Given the description of an element on the screen output the (x, y) to click on. 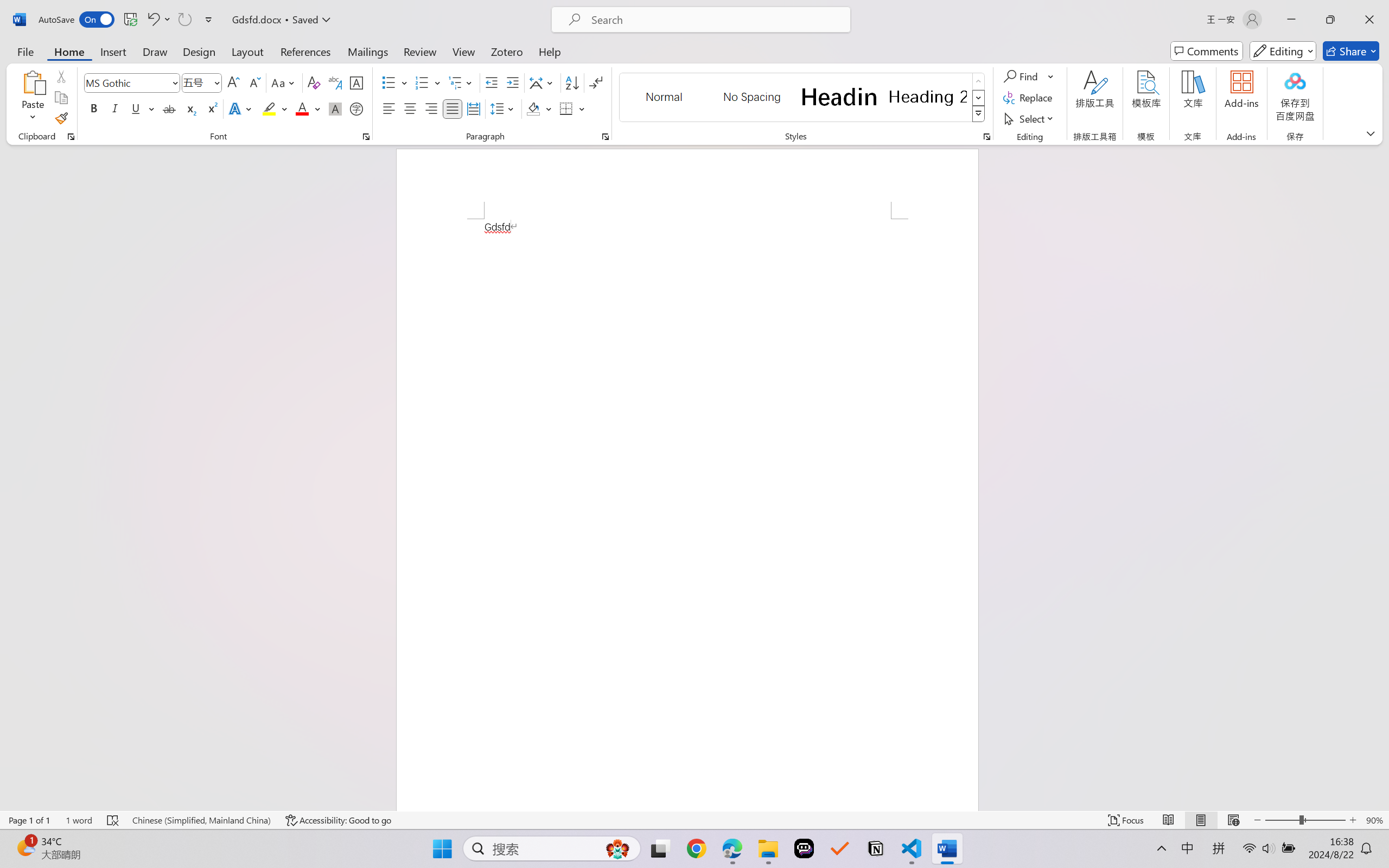
Undo Font Formatting (152, 19)
Microsoft search (715, 19)
Zoom 90% (1374, 819)
Multilevel List (461, 82)
